Given the description of an element on the screen output the (x, y) to click on. 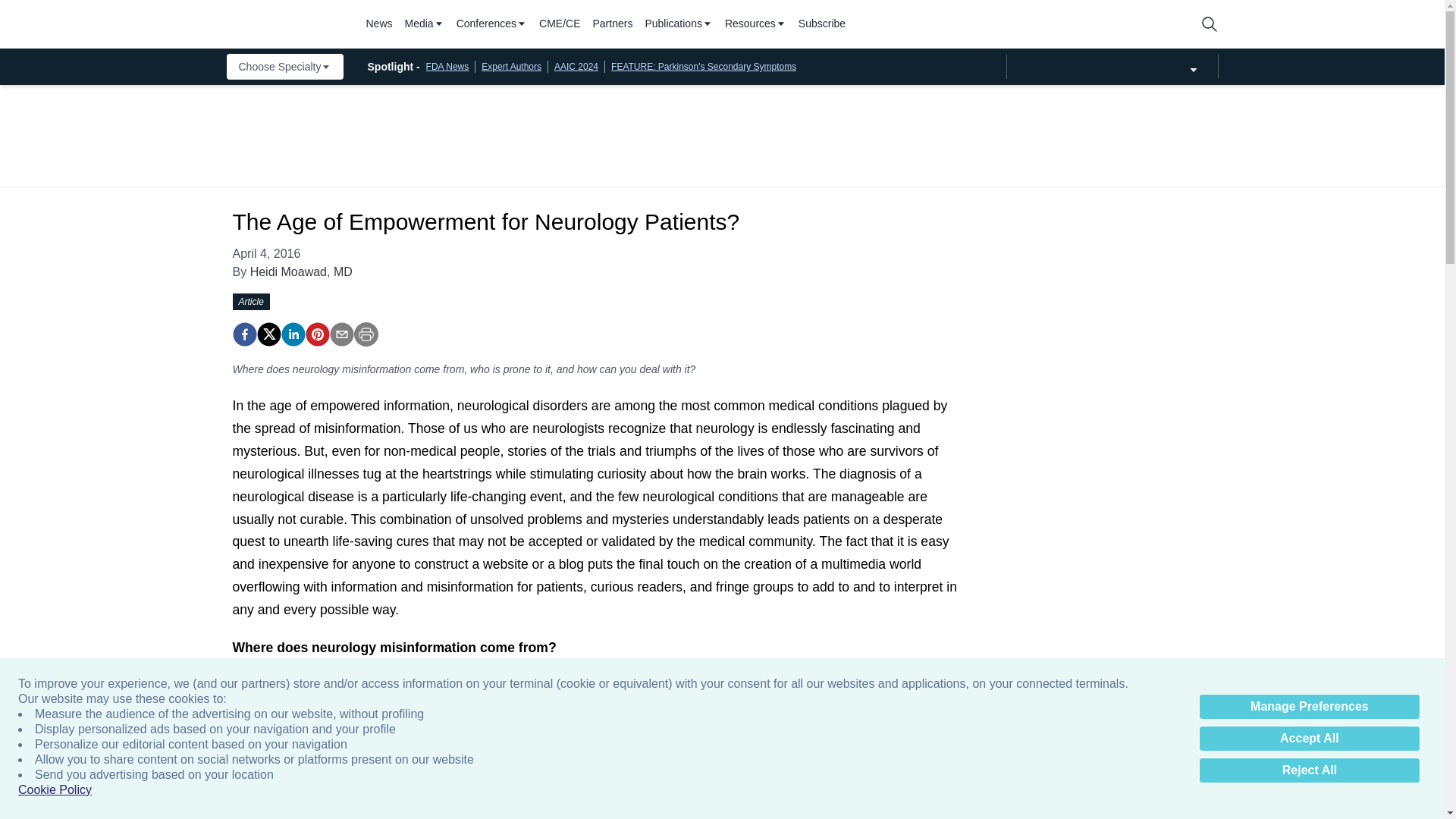
Manage Preferences (1309, 706)
Conferences (492, 23)
Media (424, 23)
Publications (679, 23)
The Age of Empowerment for Neurology Patients? (243, 334)
Partners (612, 23)
Cookie Policy (54, 789)
The Age of Empowerment for Neurology Patients? (316, 334)
Resources (755, 23)
Reject All (1309, 769)
